Given the description of an element on the screen output the (x, y) to click on. 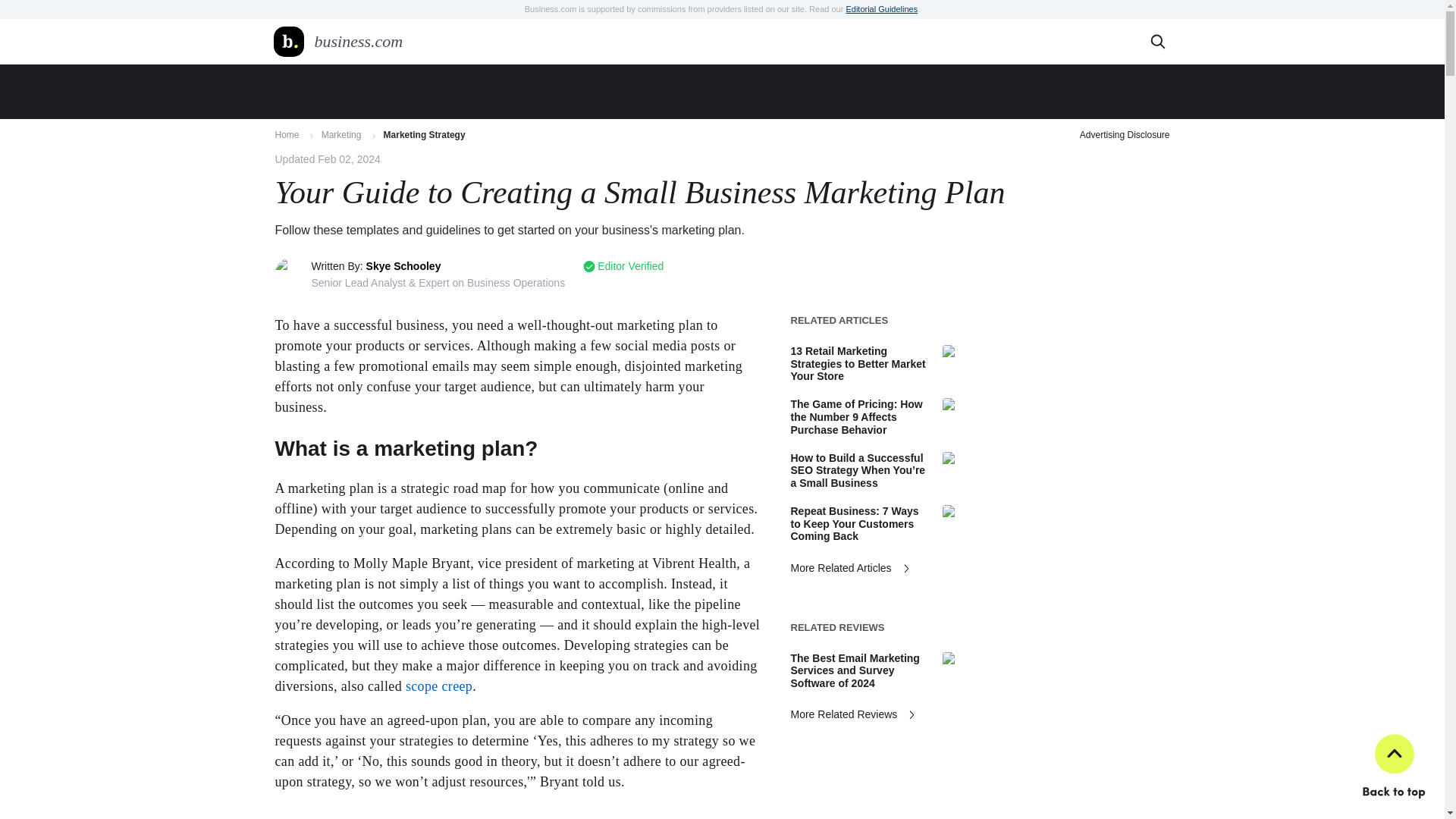
Back to top (1393, 766)
BDC Logo (287, 41)
Arrow (373, 136)
Arrow (912, 715)
Verified Check (589, 266)
Arrow (906, 568)
Arrow (311, 136)
Editorial Guidelines (881, 8)
